Given the description of an element on the screen output the (x, y) to click on. 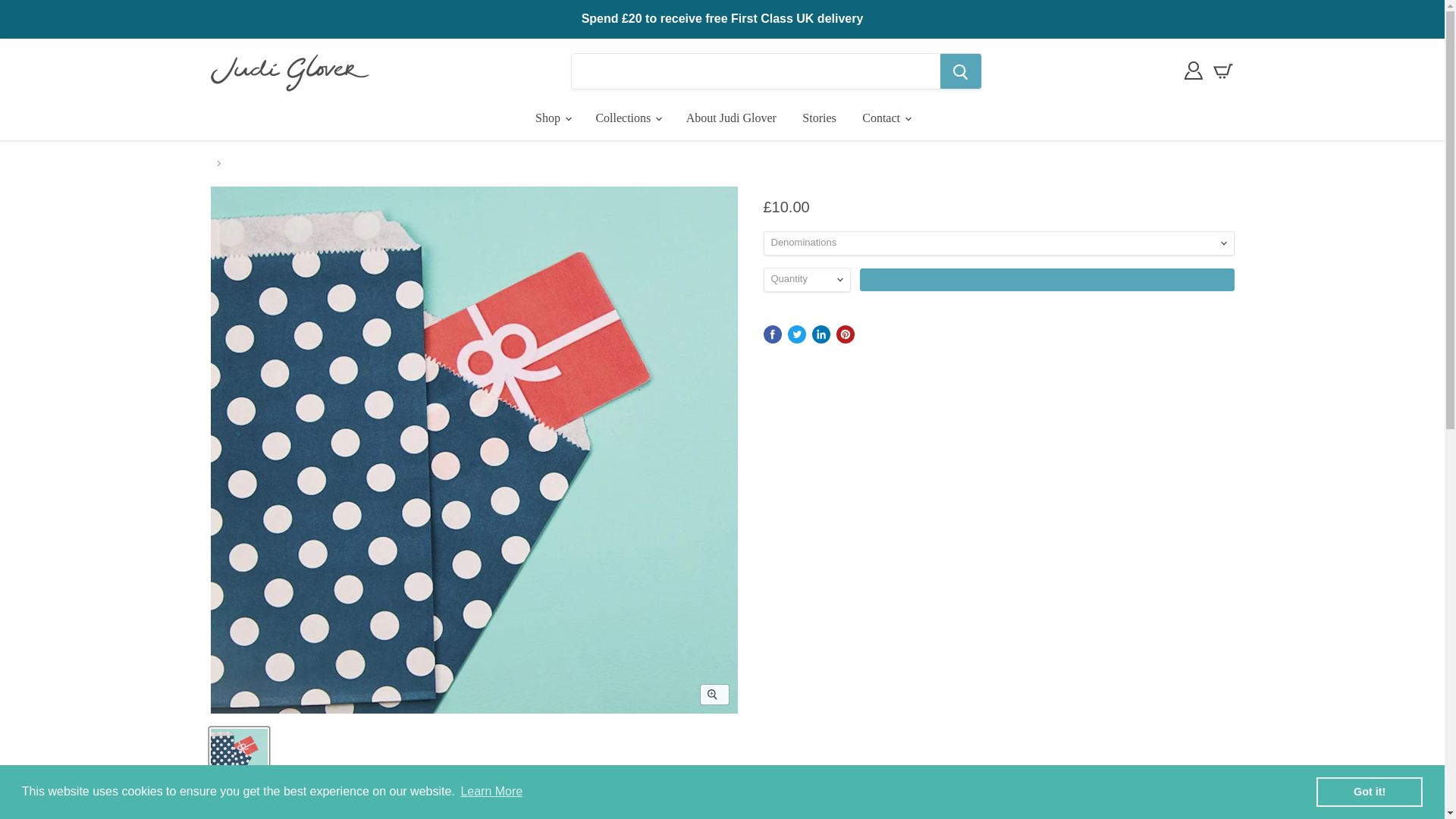
My Account (1192, 70)
Learn More (491, 791)
Shop (552, 118)
View cart (1223, 72)
Got it! (1369, 791)
